Given the description of an element on the screen output the (x, y) to click on. 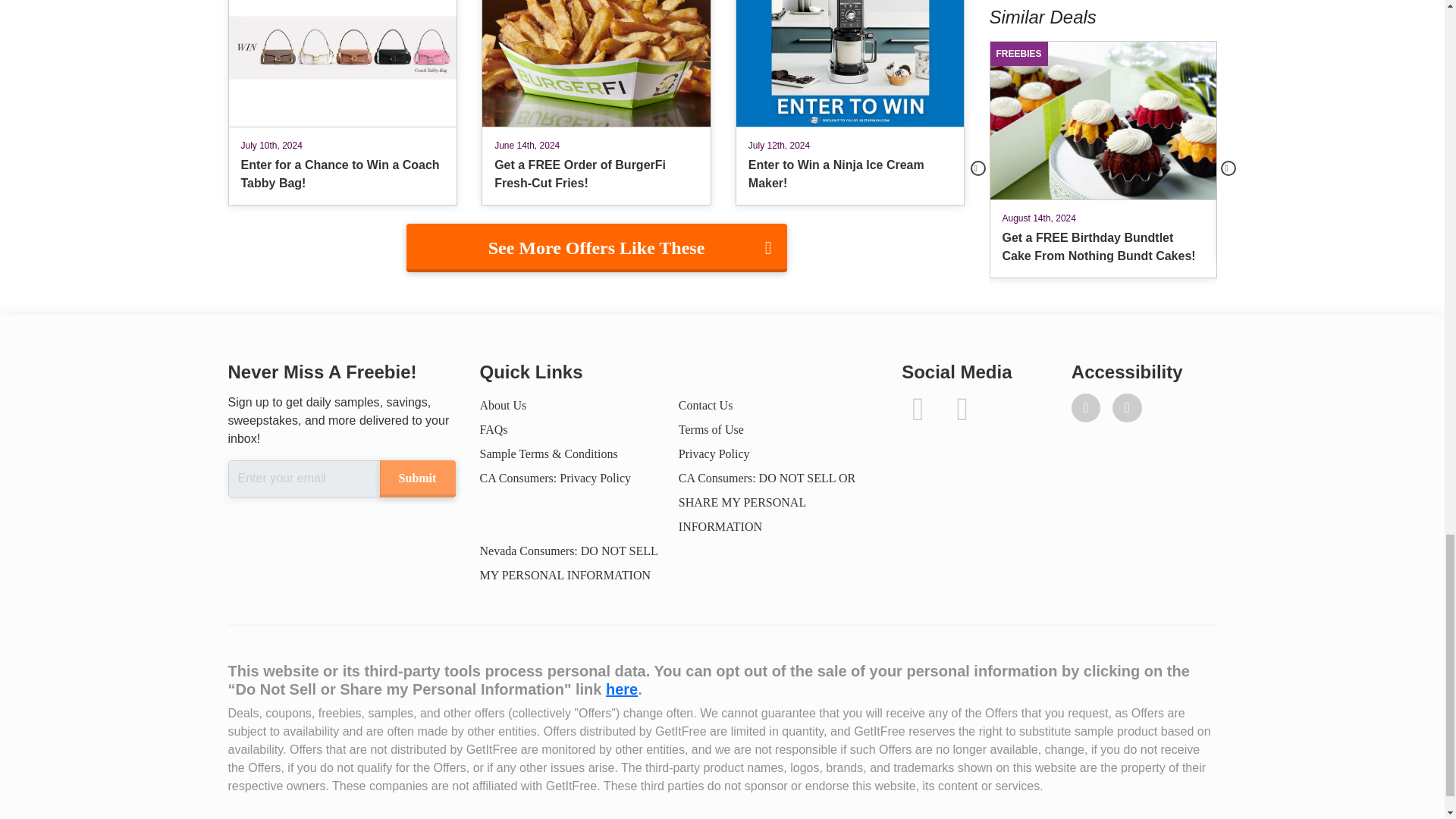
Nevada Consumers: DO NOT SELL MY PERSONAL INFORMATION (568, 562)
Terms of Use (711, 429)
Submit (416, 478)
FAQs (492, 429)
See More Offers Like These (596, 247)
About Us (502, 404)
Contact Us (705, 404)
